Given the description of an element on the screen output the (x, y) to click on. 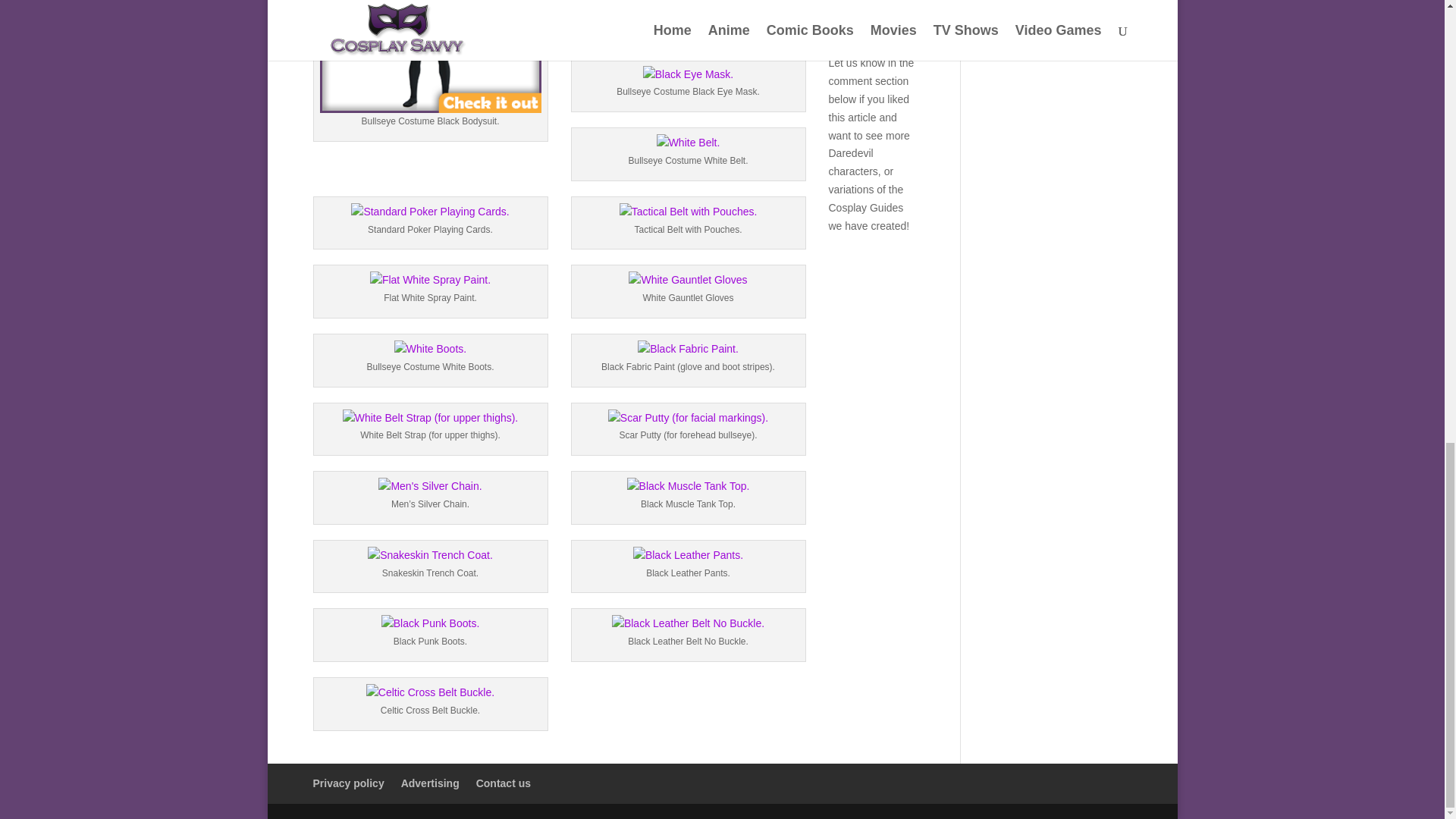
Contact us (503, 783)
Privacy policy (348, 783)
Advertising (430, 783)
